Given the description of an element on the screen output the (x, y) to click on. 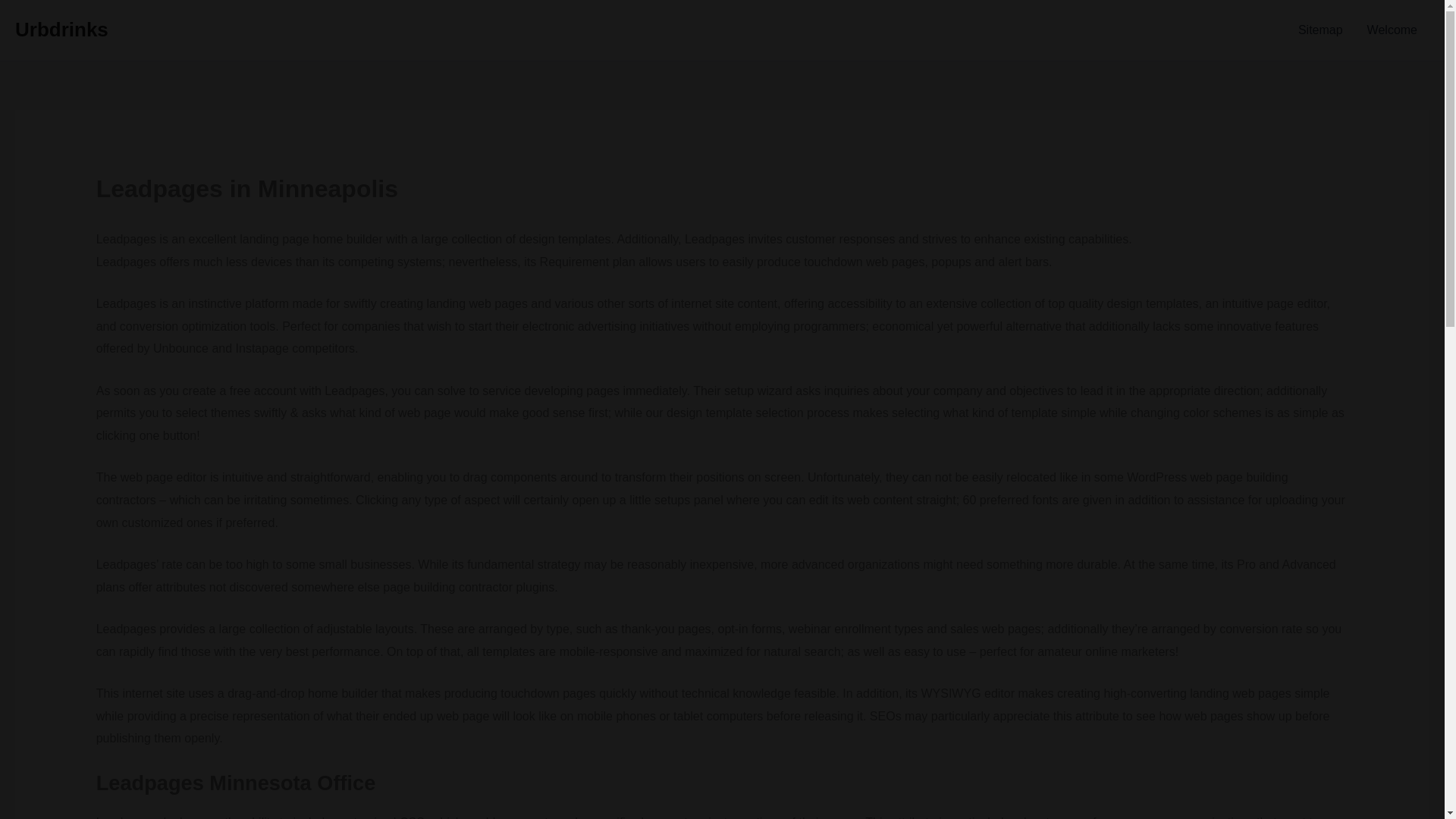
Sitemap (1320, 30)
Urbdrinks (60, 29)
Welcome (1392, 30)
